Given the description of an element on the screen output the (x, y) to click on. 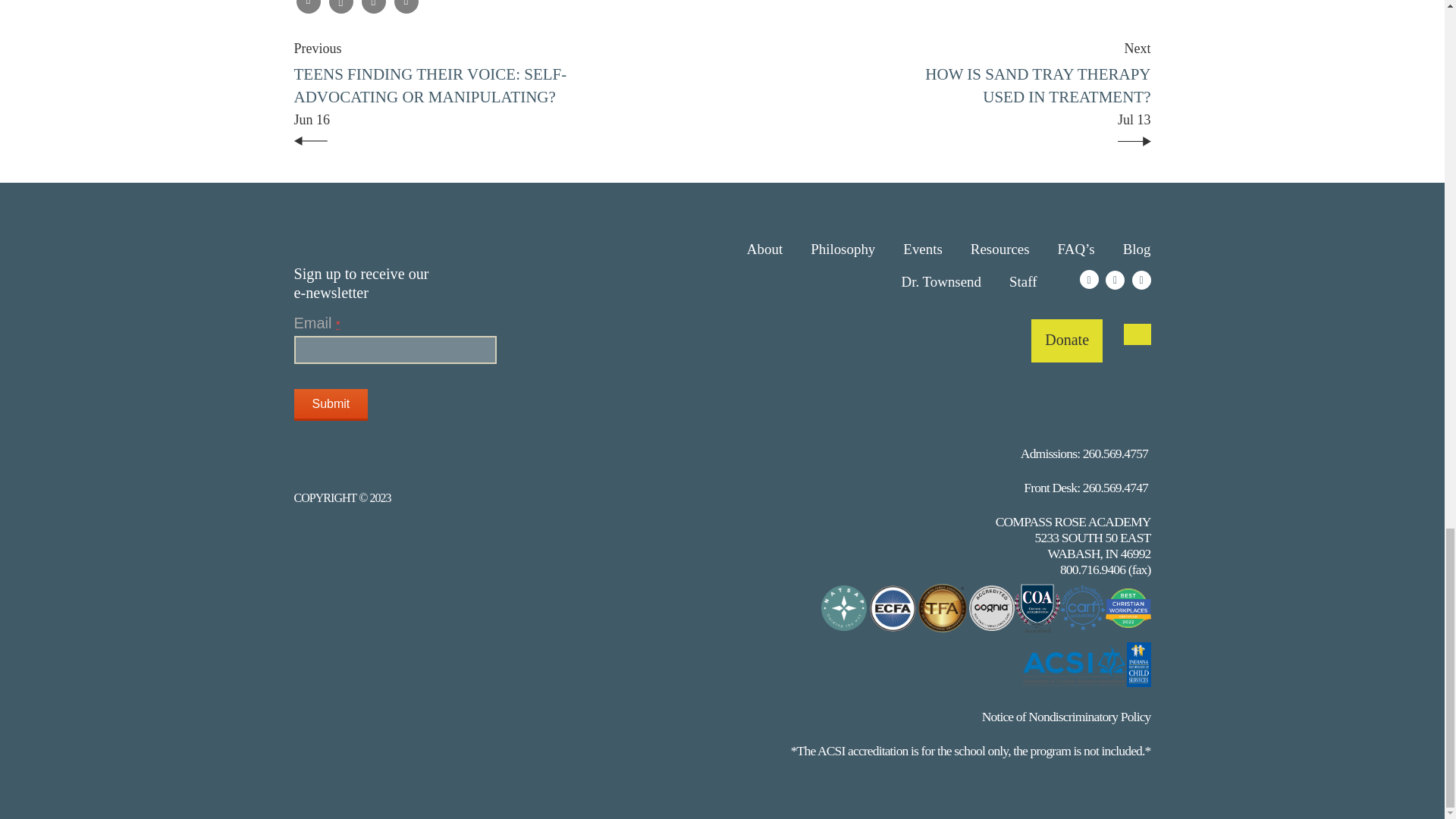
Submit (1034, 95)
Submit (331, 404)
Events (331, 404)
About (922, 249)
Philosophy (764, 249)
Resources (842, 249)
